Given the description of an element on the screen output the (x, y) to click on. 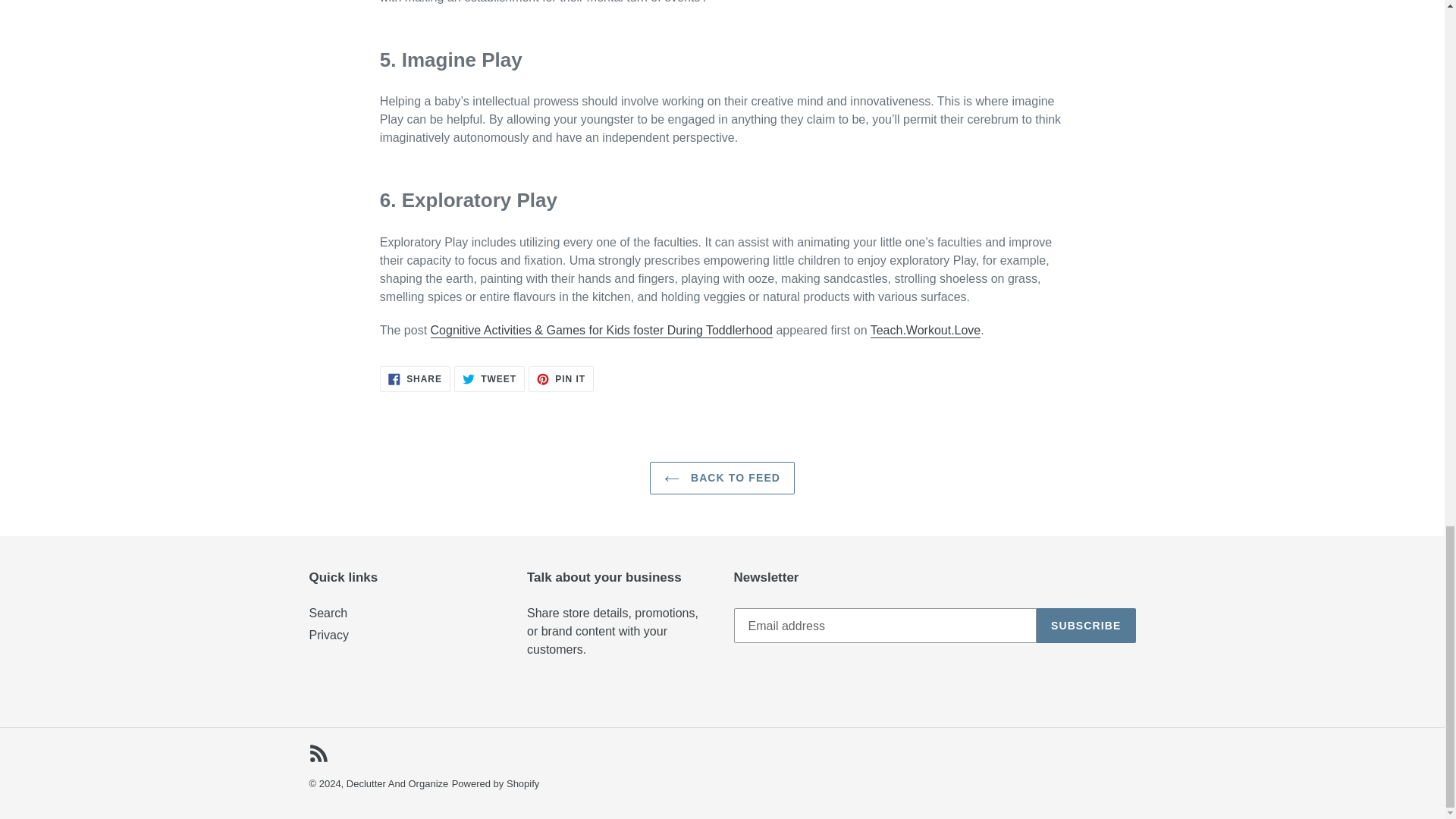
SUBSCRIBE (1085, 625)
Teach.Workout.Love (414, 379)
Search (925, 330)
Powered by Shopify (327, 612)
RSS (489, 379)
Privacy (495, 783)
BACK TO FEED (561, 379)
